Given the description of an element on the screen output the (x, y) to click on. 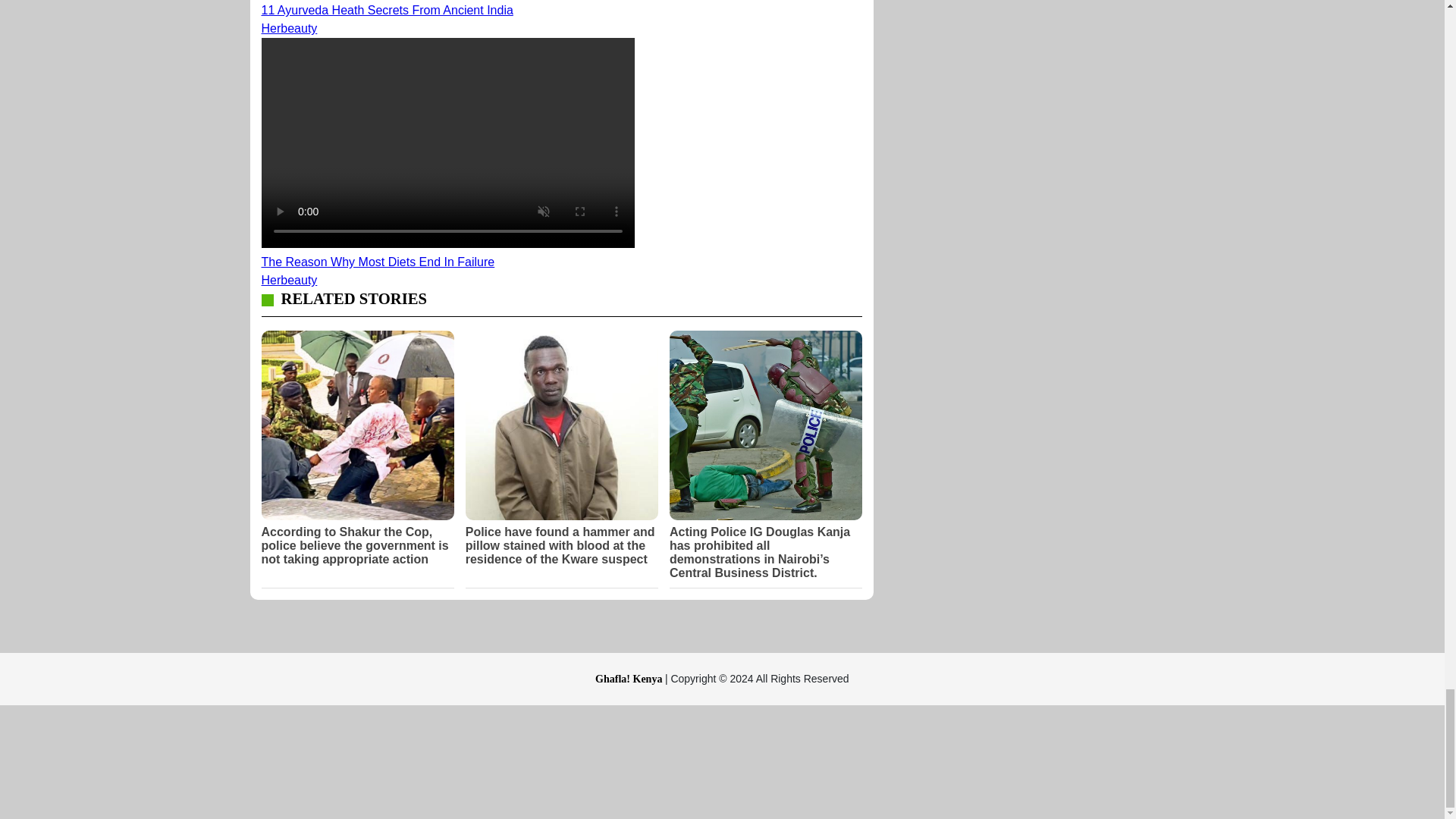
Ghafla! Kenya (630, 678)
